Given the description of an element on the screen output the (x, y) to click on. 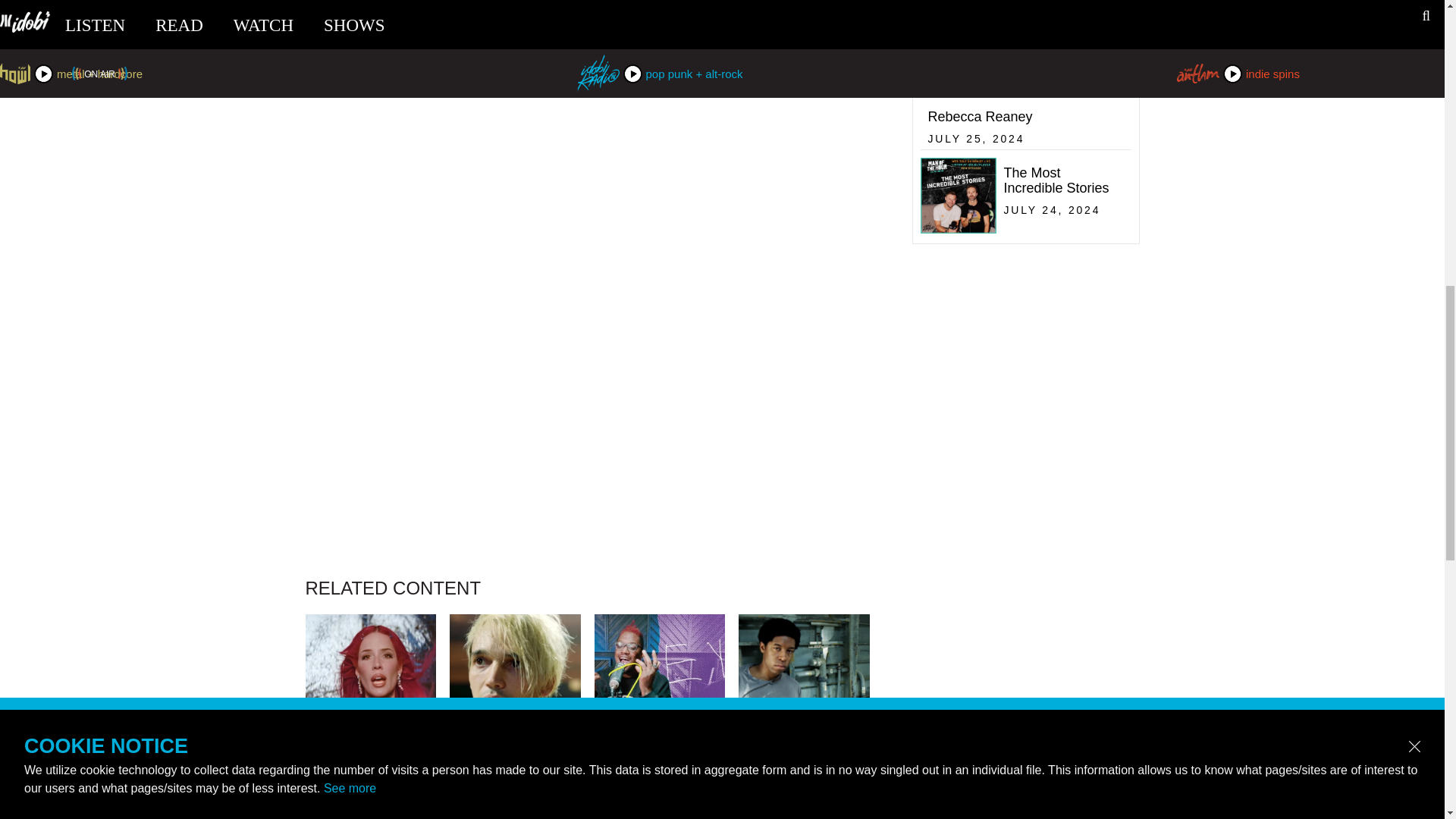
NEWS (659, 786)
NEWS (1022, 82)
NEWS (514, 786)
NEWS (803, 786)
